Given the description of an element on the screen output the (x, y) to click on. 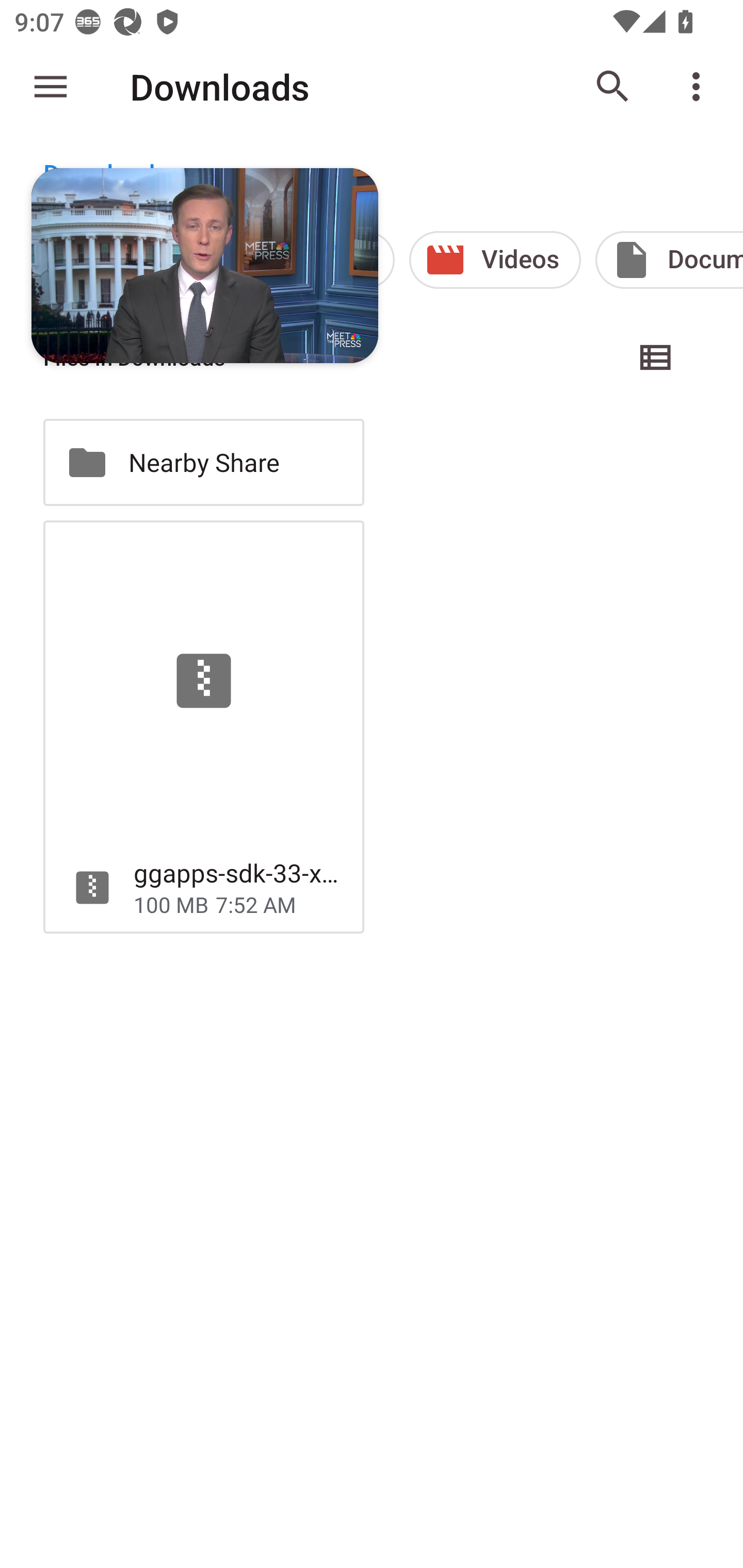
Show roots (50, 86)
Search (612, 86)
More options (699, 86)
Videos (495, 259)
Documents (669, 259)
List view (655, 357)
Nearby Share (203, 462)
ggapps-sdk-33-x86_64-20231003.zip 100 MB 7:52 AM (203, 726)
